Given the description of an element on the screen output the (x, y) to click on. 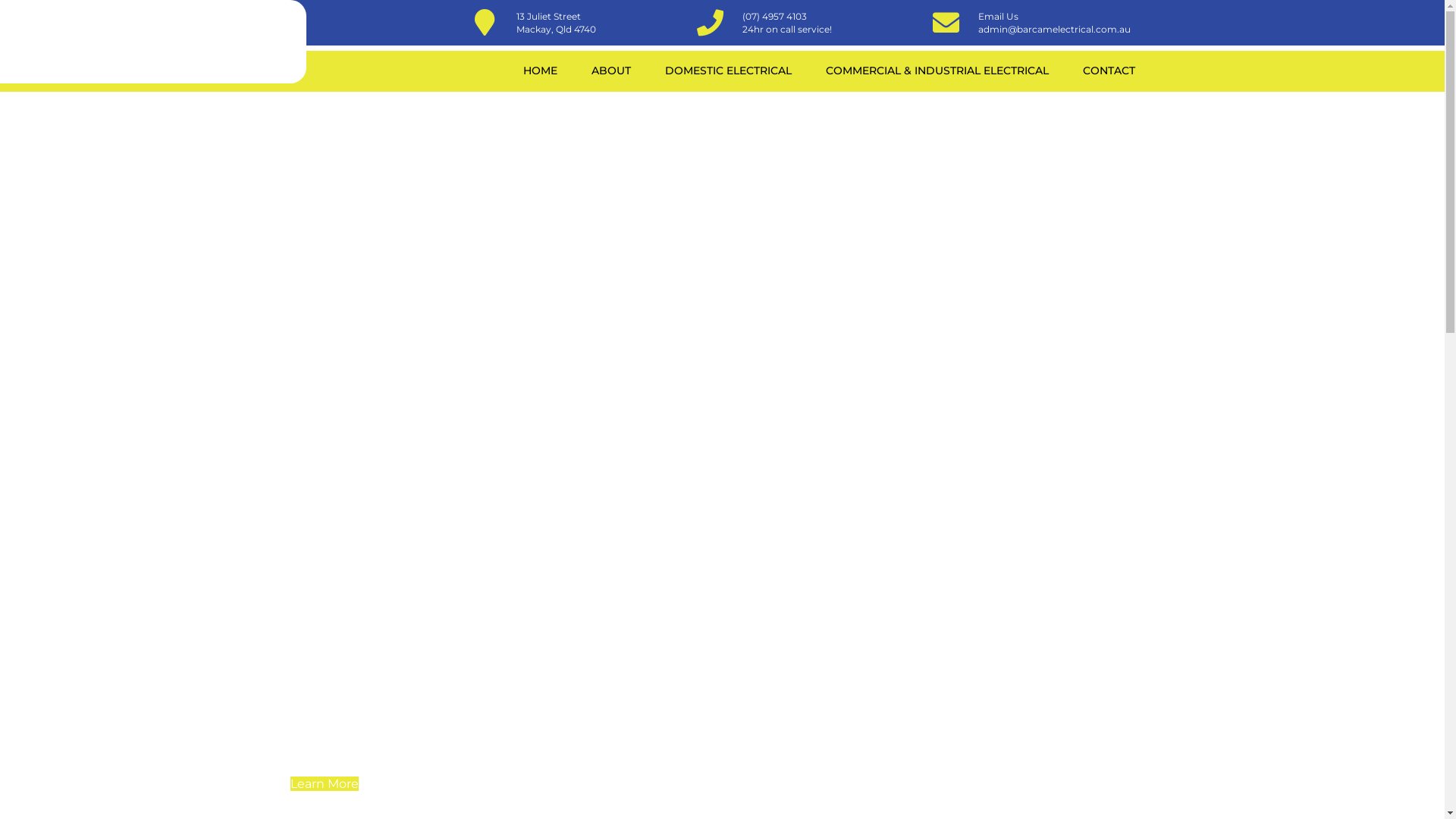
Learn More Element type: text (323, 783)
admin@barcamelectrical.com.au Element type: text (1054, 28)
DOMESTIC ELECTRICAL Element type: text (728, 70)
Mackay, Qld 4740 Element type: text (555, 28)
CONTACT Element type: text (1108, 70)
13 Juliet Street Element type: text (547, 15)
(07) 4957 4103 Element type: text (773, 15)
COMMERCIAL & INDUSTRIAL ELECTRICAL Element type: text (936, 70)
HOME Element type: text (539, 70)
ABOUT Element type: text (610, 70)
